Given the description of an element on the screen output the (x, y) to click on. 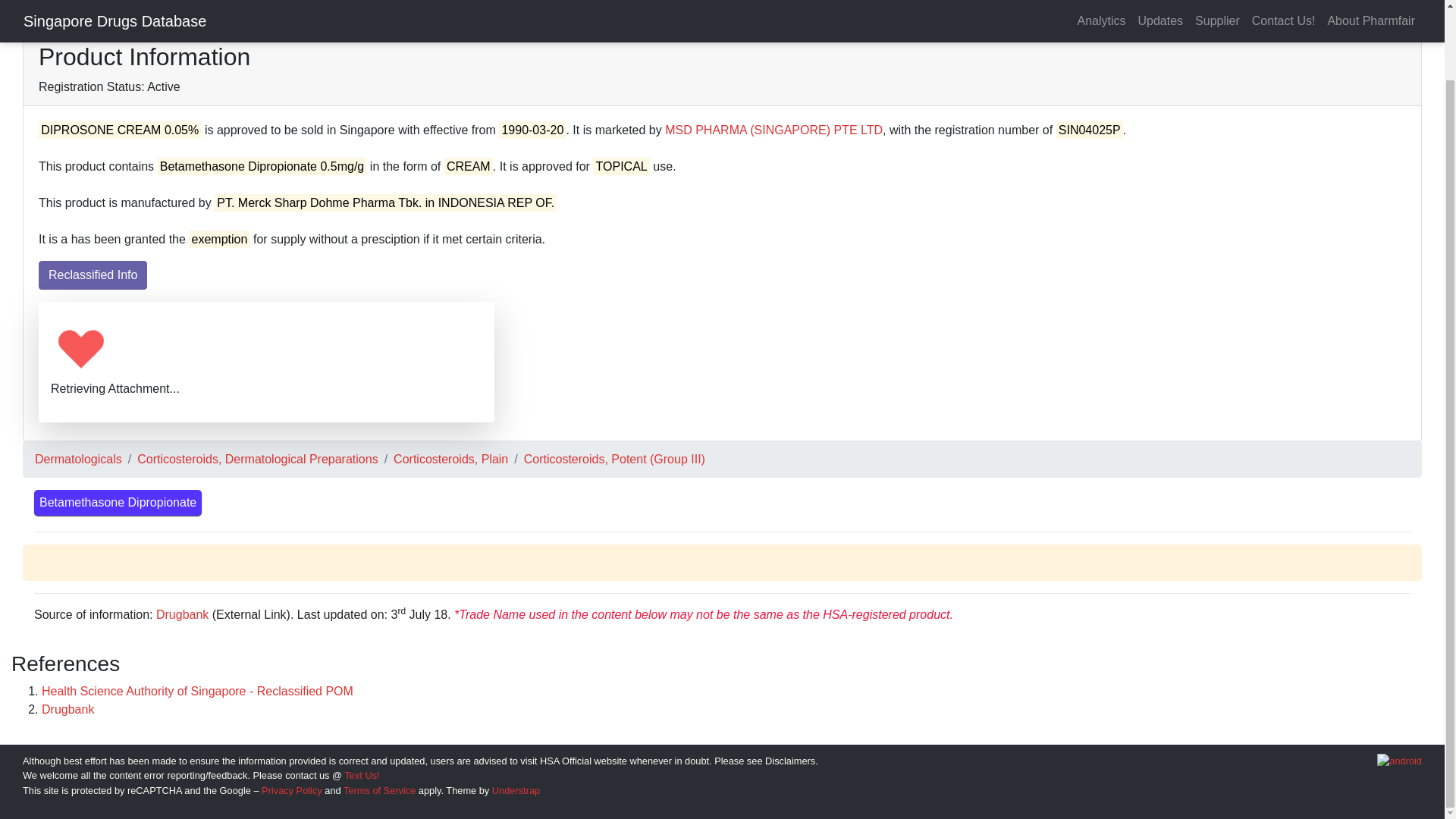
Corticosteroids, Dermatological Preparations (256, 459)
Drugbank (68, 708)
google-play (1399, 760)
Text Us! (360, 775)
Privacy Policy (291, 790)
Dermatologicals (78, 459)
Understrap (516, 790)
Health Science Authority of Singapore - Reclassified POM (197, 690)
Drugbank (181, 614)
Corticosteroids, Plain (450, 459)
Reclassified Info (93, 275)
Terms of Service (378, 790)
